Given the description of an element on the screen output the (x, y) to click on. 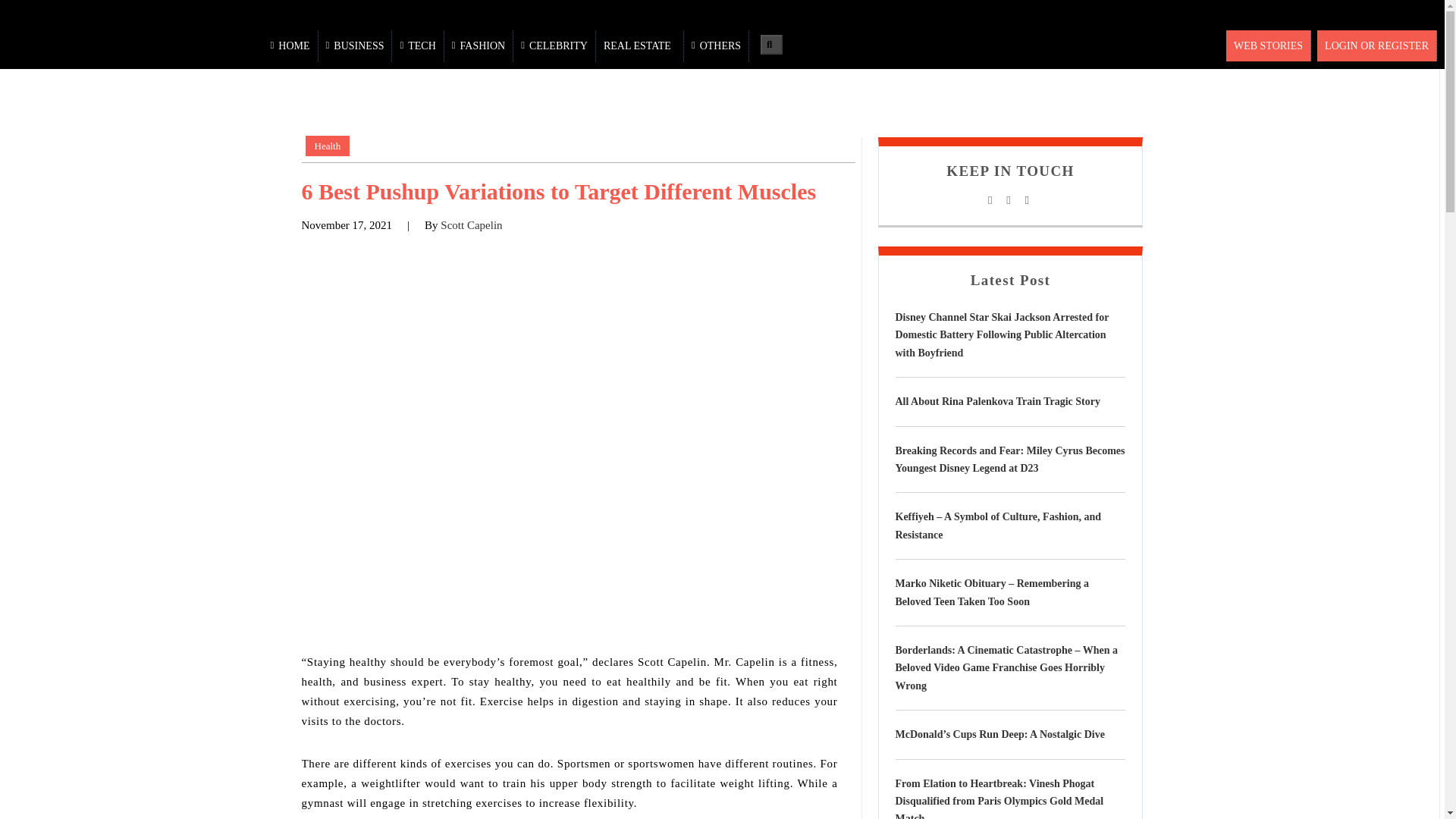
TECH (417, 45)
HOME (290, 45)
BUSINESS (355, 45)
OTHERS (716, 45)
FASHION (478, 45)
CELEBRITY (554, 45)
REAL ESTATE (639, 45)
September 13, 2017 (347, 224)
Posts by Scott Capelin (471, 224)
